Given the description of an element on the screen output the (x, y) to click on. 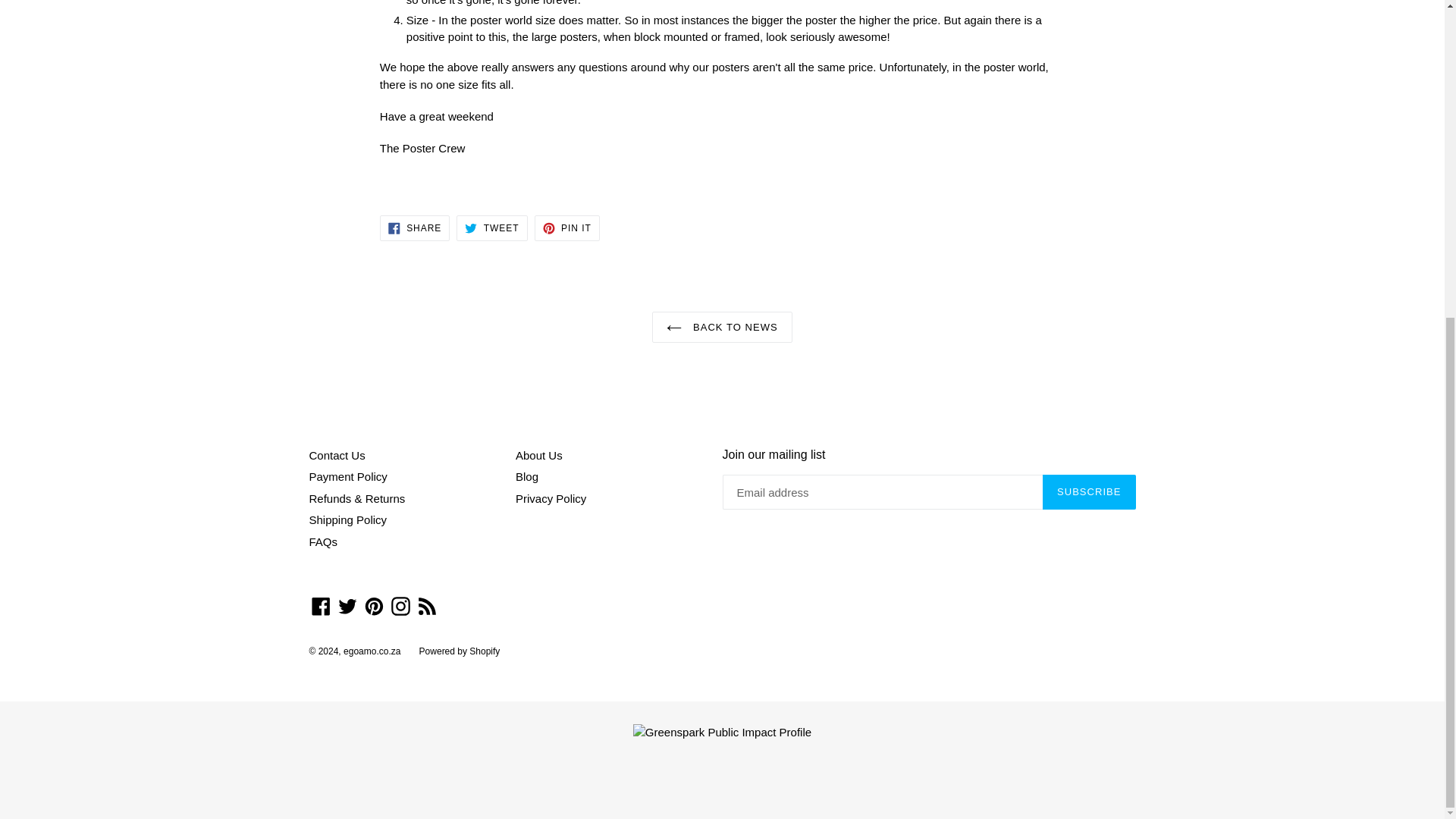
egoamo.co.za on Instagram (400, 606)
Pin on Pinterest (566, 227)
egoamo.co.za on Facebook (320, 606)
Share on Facebook (414, 227)
egoamo.co.za on Twitter (347, 606)
Tweet on Twitter (492, 227)
egoamo.co.za on Pinterest (373, 606)
